Given the description of an element on the screen output the (x, y) to click on. 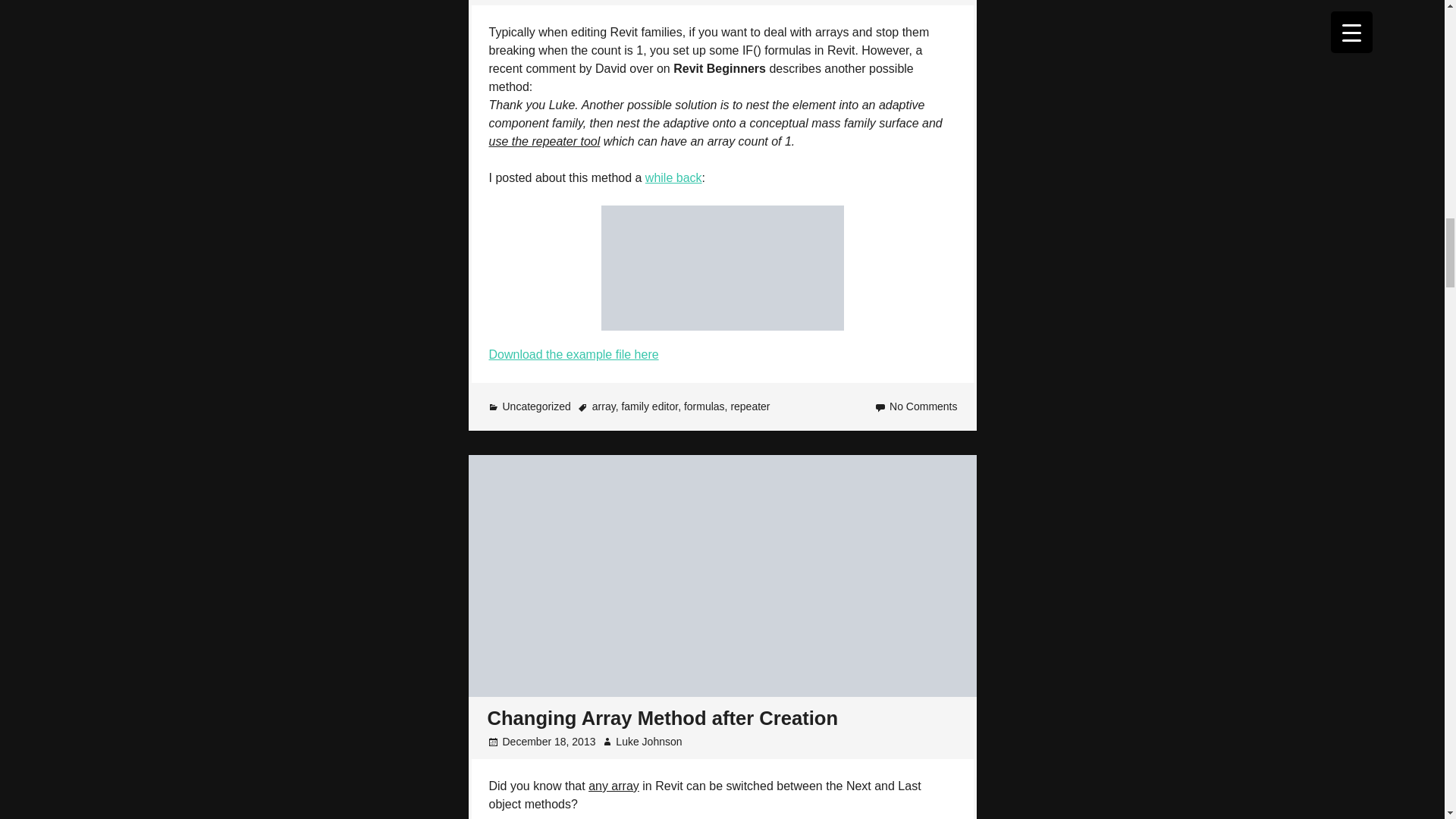
array (603, 406)
while back (673, 177)
Uncategorized (536, 406)
Download the example file here (572, 354)
